Given the description of an element on the screen output the (x, y) to click on. 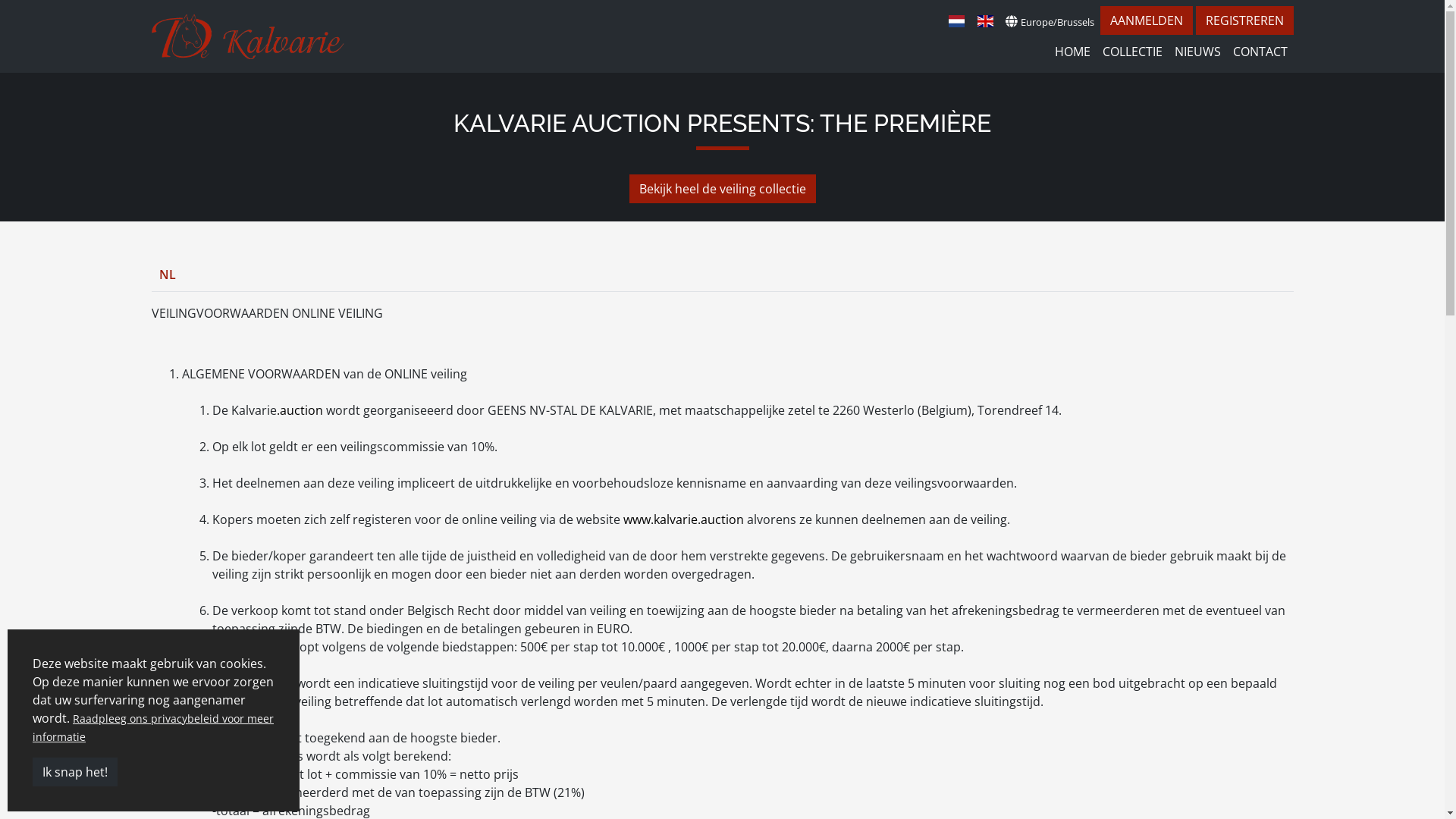
CONTACT Element type: text (1259, 51)
AANMELDEN Element type: text (1145, 20)
NL Element type: text (167, 274)
COLLECTIE Element type: text (1132, 51)
Ik snap het! Element type: text (74, 771)
www.kalvarie.auction Element type: text (683, 519)
Europe/Brussels Element type: text (1049, 21)
NIEUWS Element type: text (1196, 51)
Bekijk heel de veiling collectie Element type: text (722, 188)
HOME Element type: text (1071, 51)
REGISTREREN Element type: text (1243, 20)
Raadpleeg ons privacybeleid voor meer informatie Element type: text (152, 727)
.auction Element type: text (299, 409)
